Given the description of an element on the screen output the (x, y) to click on. 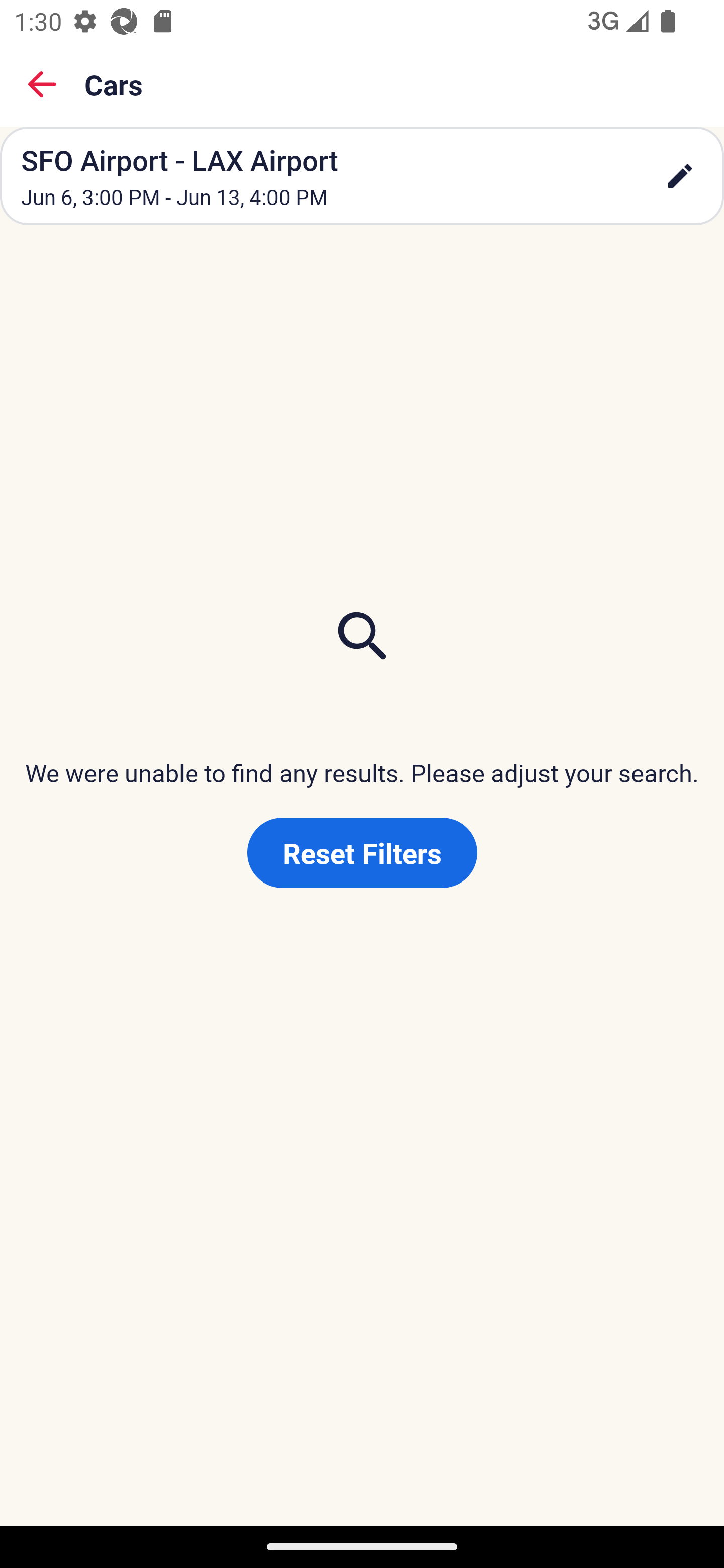
Back (42, 84)
edit (679, 175)
Reset Filters (362, 852)
